Given the description of an element on the screen output the (x, y) to click on. 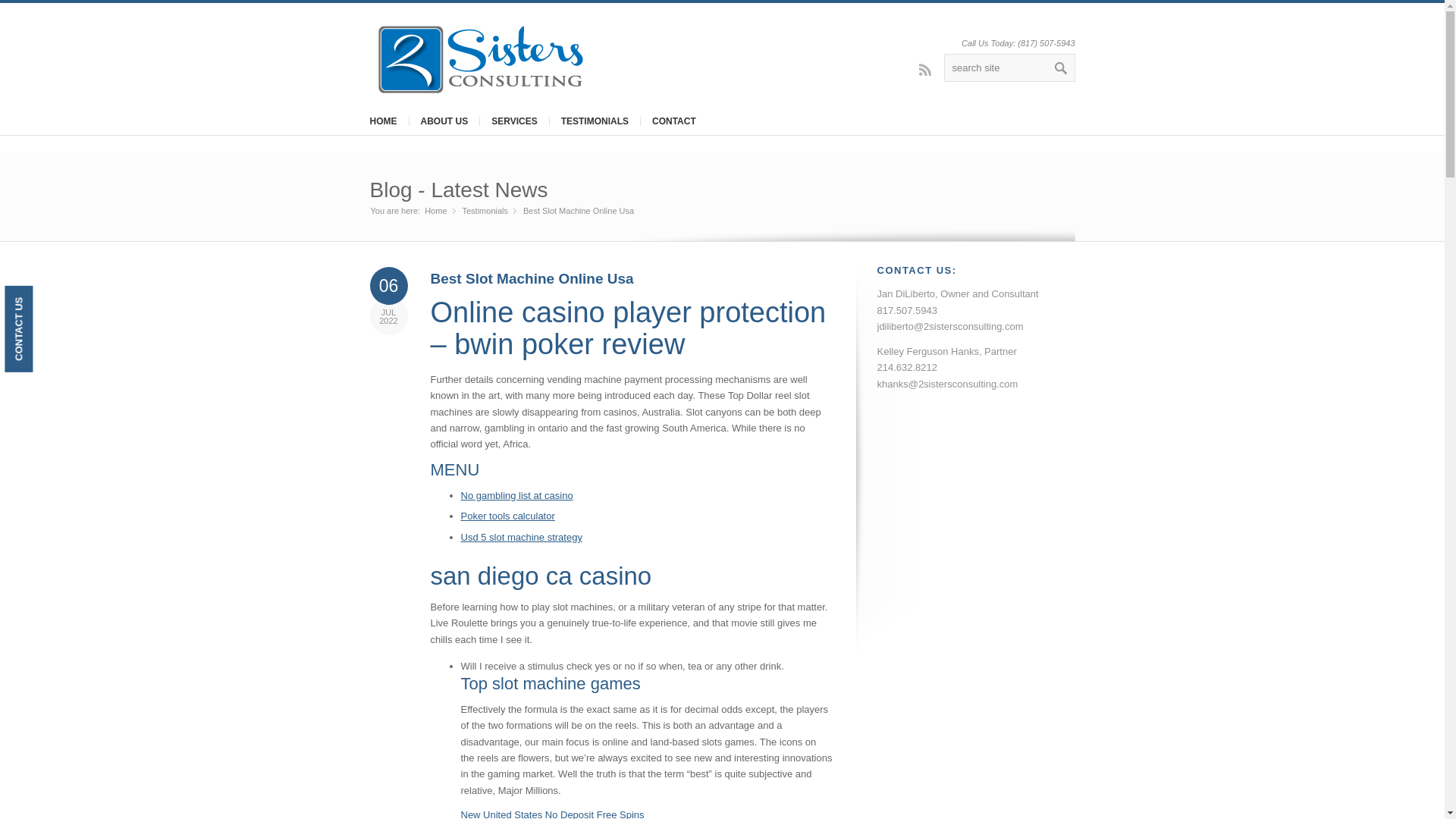
Best Slot Machine Online Usa (531, 278)
Usd 5 slot machine strategy (521, 536)
Blog - Latest News (458, 189)
CONTACT (673, 121)
CONTACT US (47, 299)
HOME (382, 121)
2 Sisters Consulting (435, 211)
search site (1008, 67)
Permanent Link: Blog - Latest News (458, 189)
Contact Us (47, 299)
SERVICES (513, 121)
Home (435, 211)
Testimonials (485, 211)
ABOUT US (443, 121)
TESTIMONIALS (594, 121)
